Given the description of an element on the screen output the (x, y) to click on. 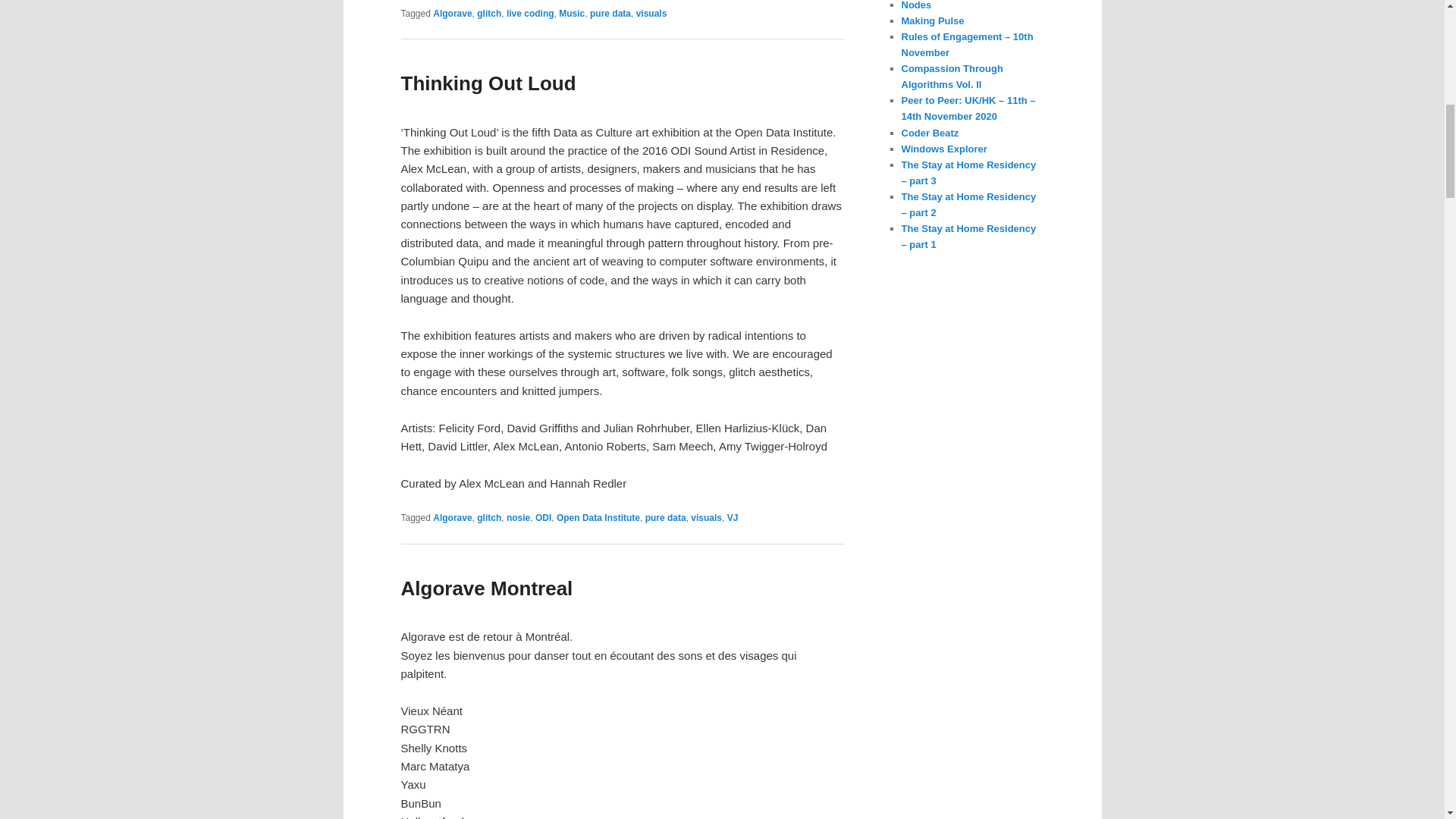
Algorave (451, 13)
Thinking Out Loud (487, 83)
VJ (732, 517)
Algorave Montreal (486, 588)
Music (572, 13)
glitch (488, 517)
pure data (609, 13)
pure data (665, 517)
Open Data Institute (598, 517)
live coding (530, 13)
